Given the description of an element on the screen output the (x, y) to click on. 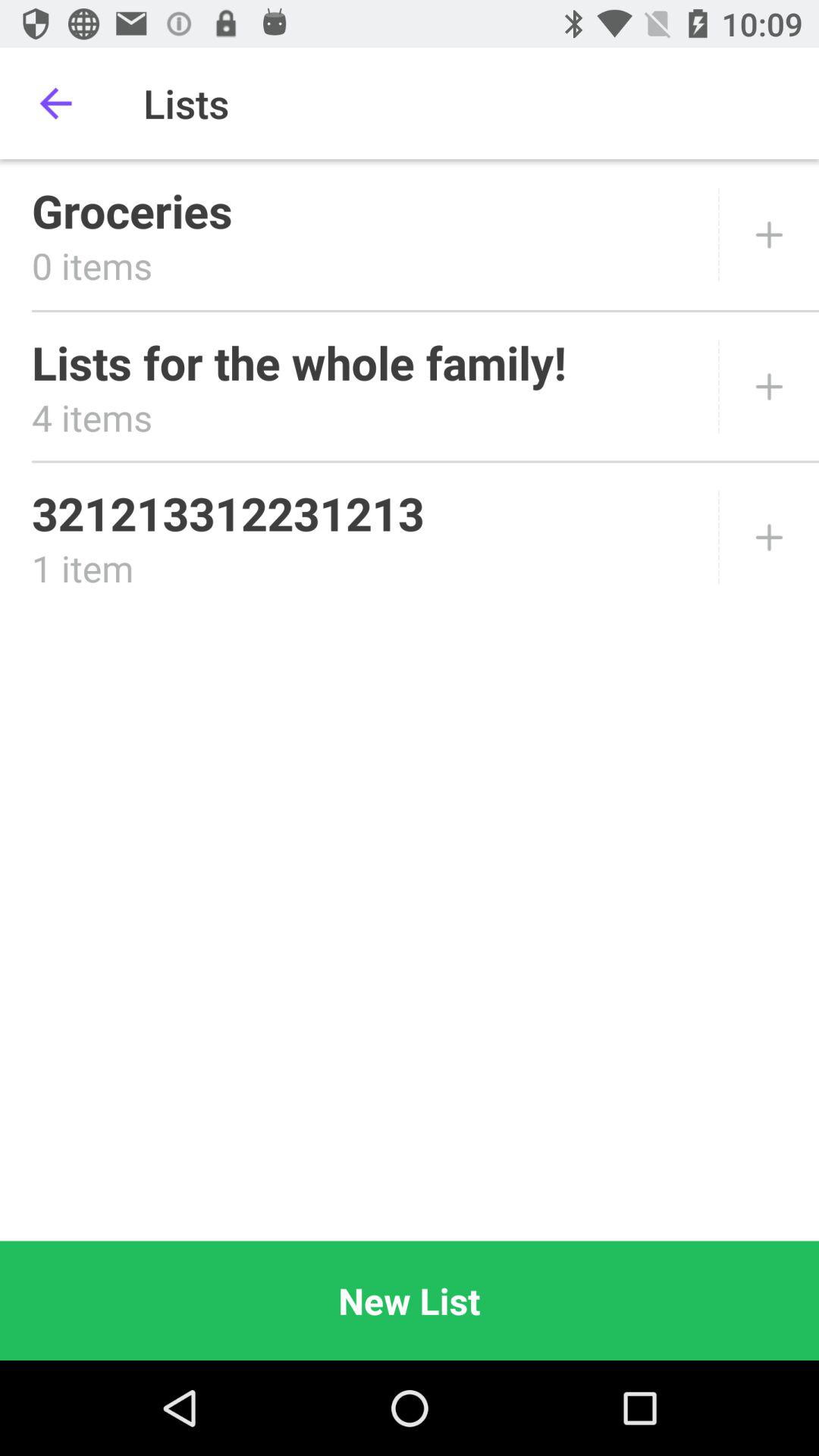
jump to the new list icon (409, 1300)
